Given the description of an element on the screen output the (x, y) to click on. 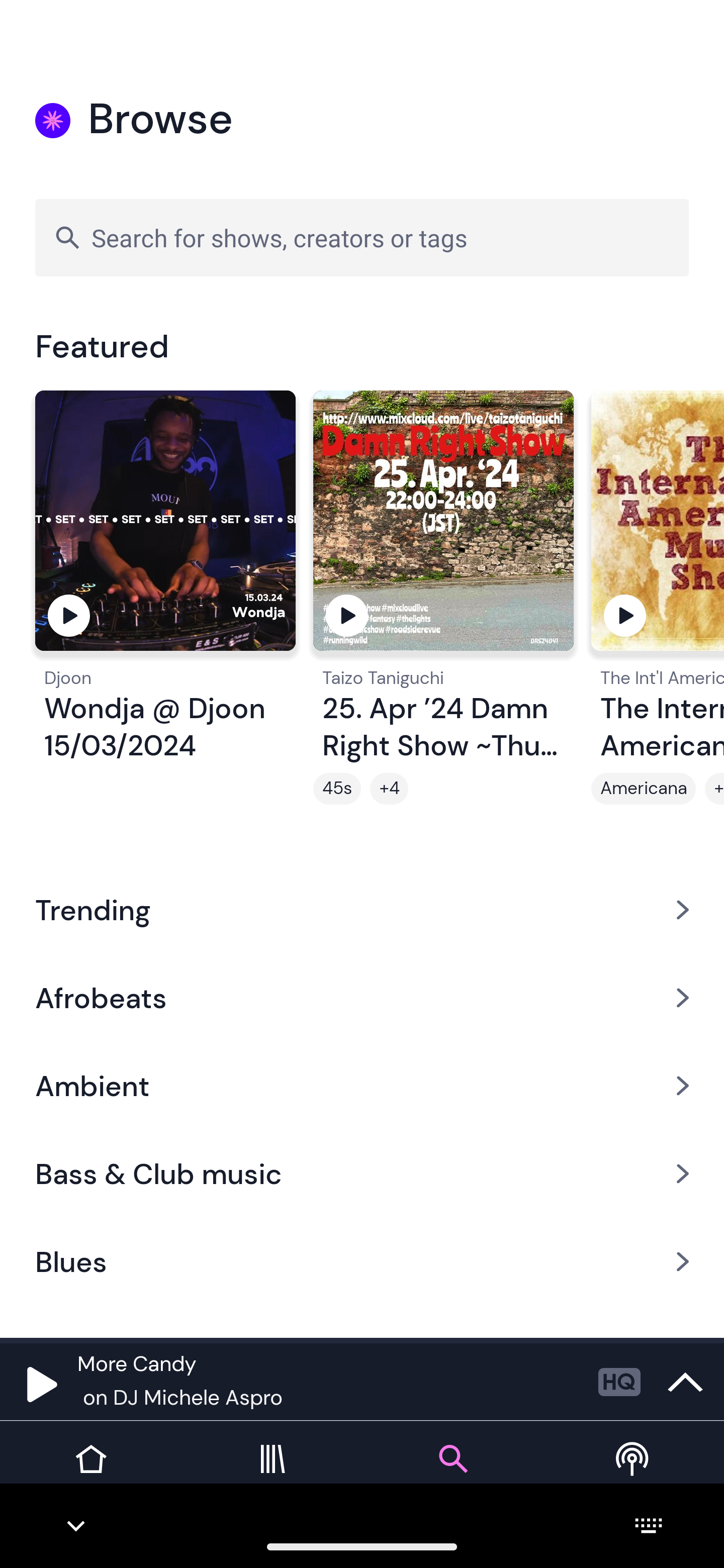
Search for shows, creators or tags (361, 237)
45s (337, 788)
Americana (643, 788)
Trending (361, 909)
Afrobeats (361, 997)
Ambient (361, 1085)
Bass & Club music (361, 1174)
Blues (361, 1262)
Home tab (90, 1473)
Library tab (271, 1473)
Browse tab (452, 1473)
Live tab (633, 1473)
